Given the description of an element on the screen output the (x, y) to click on. 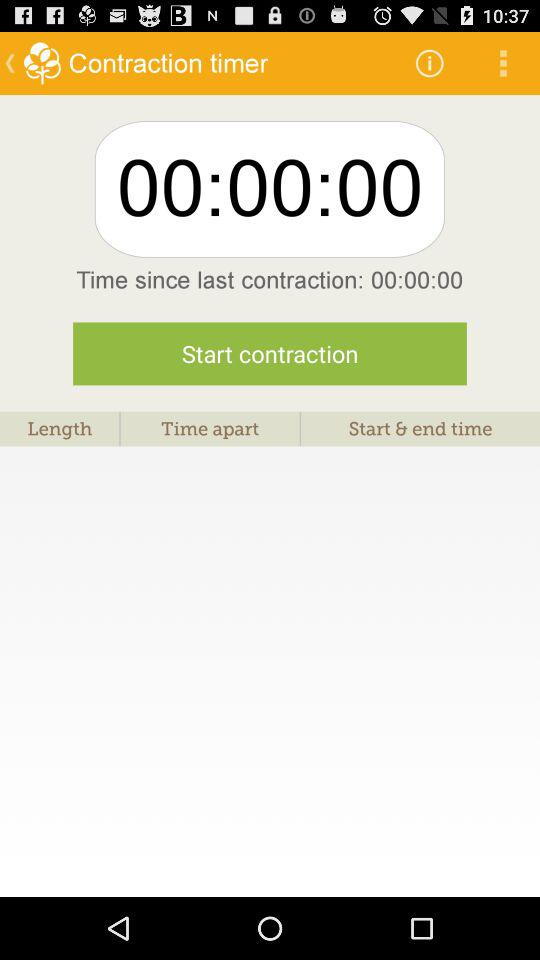
flip to start contraction item (269, 353)
